Given the description of an element on the screen output the (x, y) to click on. 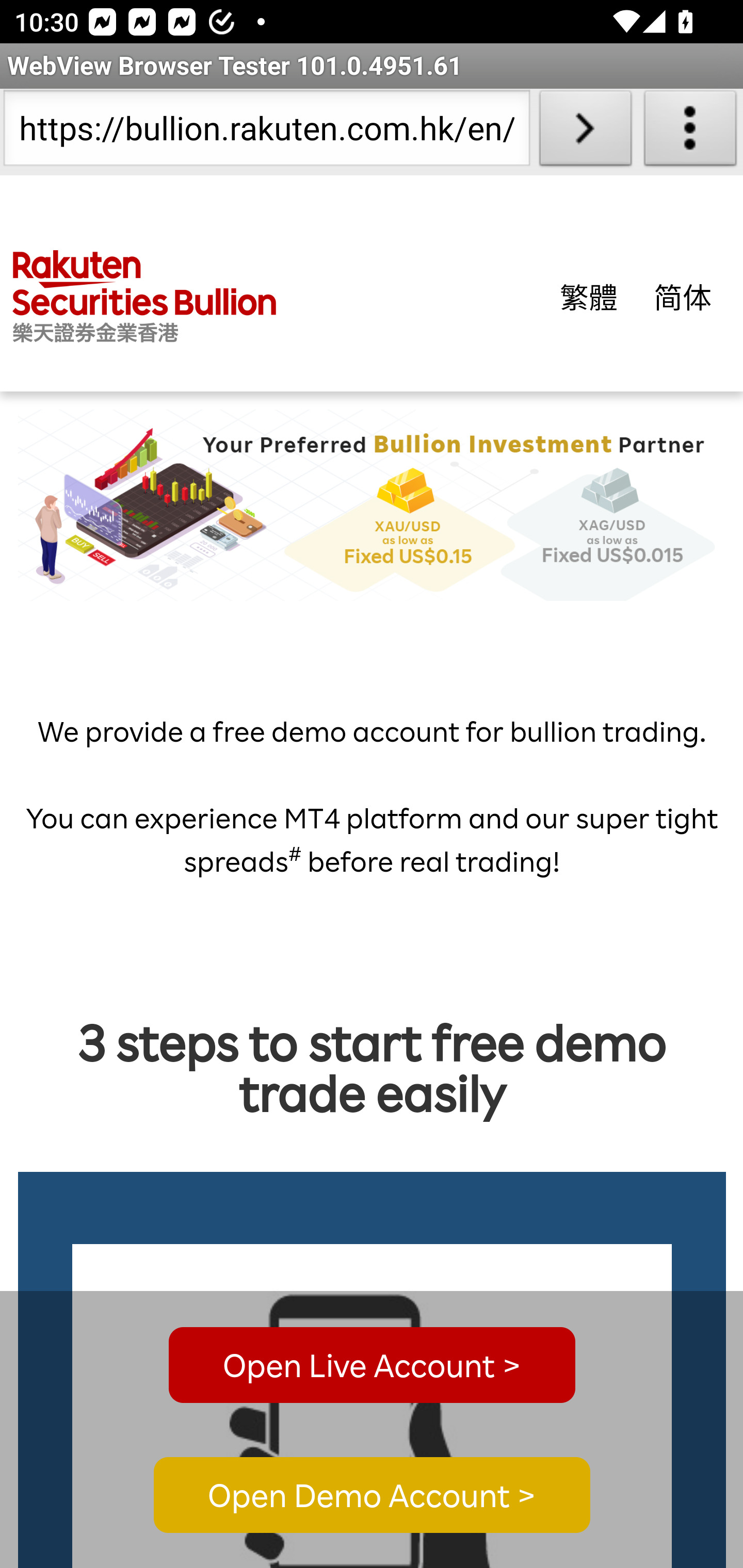
Load URL (585, 132)
About WebView (690, 132)
繁體 (589, 296)
简体 (683, 296)
Open Live Account > (371, 1364)
Open Demo Account > (371, 1495)
